Given the description of an element on the screen output the (x, y) to click on. 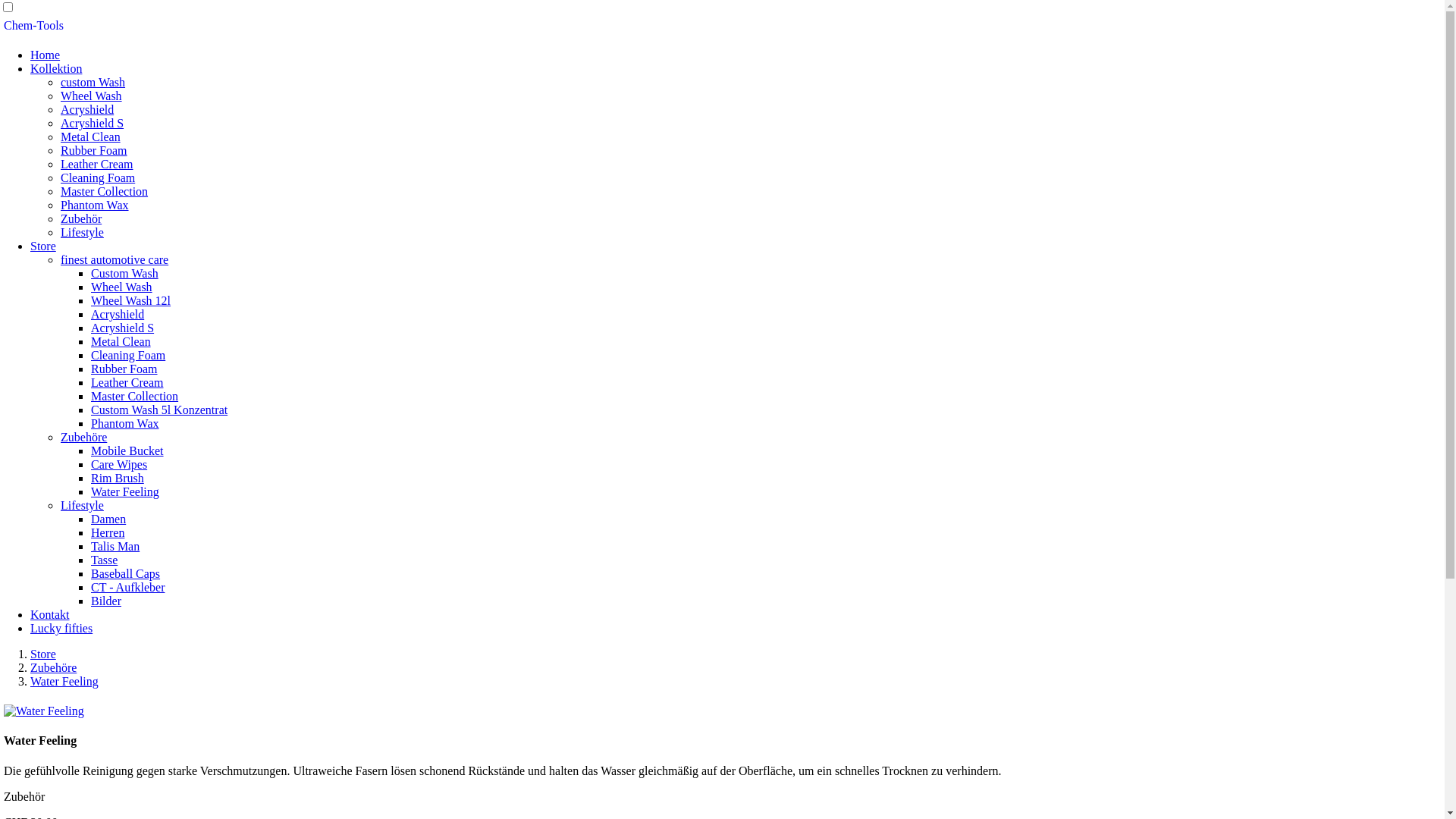
Metal Clean Element type: text (90, 136)
Kollektion Element type: text (55, 68)
Rim Brush Element type: text (117, 477)
Bilder Element type: text (106, 600)
Wheel Wash Element type: text (121, 286)
Lifestyle Element type: text (81, 231)
Leather Cream Element type: text (127, 382)
Cleaning Foam Element type: text (128, 354)
Talis Man Element type: text (115, 545)
Mobile Bucket Element type: text (127, 450)
Master Collection Element type: text (134, 395)
Baseball Caps Element type: text (125, 573)
Cleaning Foam Element type: text (97, 177)
Home Element type: text (44, 54)
finest automotive care Element type: text (114, 259)
Acryshield S Element type: text (122, 327)
Lifestyle Element type: text (81, 504)
Herren Element type: text (107, 532)
Acryshield Element type: text (117, 313)
custom Wash Element type: text (92, 81)
Custom Wash 5l Konzentrat Element type: text (159, 409)
Leather Cream Element type: text (96, 163)
Tasse Element type: text (104, 559)
Rubber Foam Element type: text (93, 150)
Lucky fifties Element type: text (61, 627)
Acryshield Element type: text (86, 109)
Custom Wash Element type: text (124, 272)
Care Wipes Element type: text (119, 464)
Master Collection Element type: text (103, 191)
Store Element type: text (43, 653)
Phantom Wax Element type: text (125, 423)
Wheel Wash 12l Element type: text (130, 300)
Store Element type: text (43, 245)
Water Feeling Element type: text (64, 680)
Wheel Wash Element type: text (91, 95)
Acryshield S Element type: text (91, 122)
Damen Element type: text (108, 518)
CT - Aufkleber Element type: text (127, 586)
Metal Clean Element type: text (120, 341)
Phantom Wax Element type: text (94, 204)
Rubber Foam Element type: text (124, 368)
Kontakt Element type: text (49, 614)
Chem-Tools Element type: text (33, 24)
Water Feeling Element type: text (125, 491)
